Given the description of an element on the screen output the (x, y) to click on. 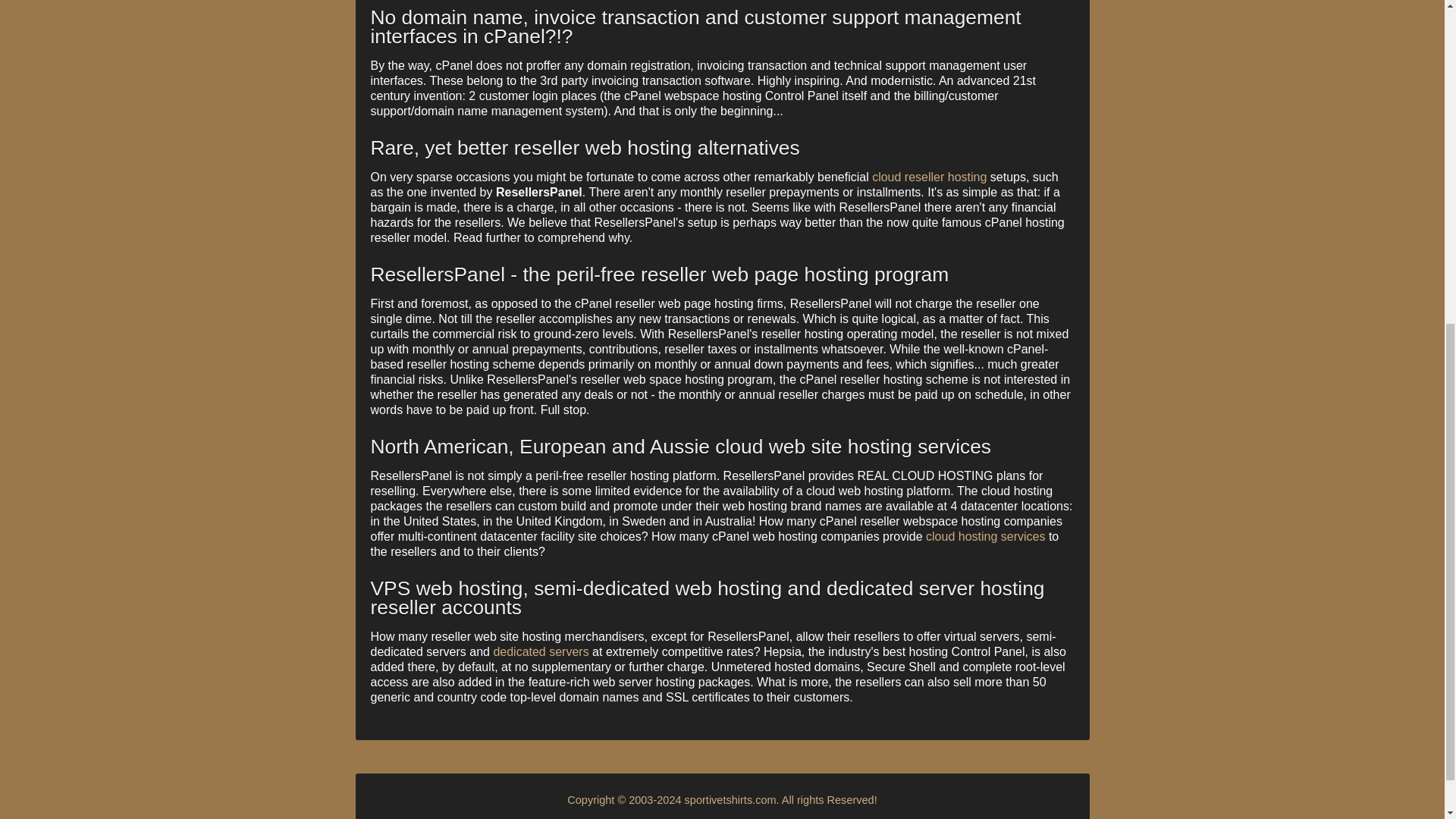
cloud reseller hosting (929, 176)
sportivetshirts.com (730, 799)
dedicated servers (540, 651)
cloud hosting services (985, 535)
